Given the description of an element on the screen output the (x, y) to click on. 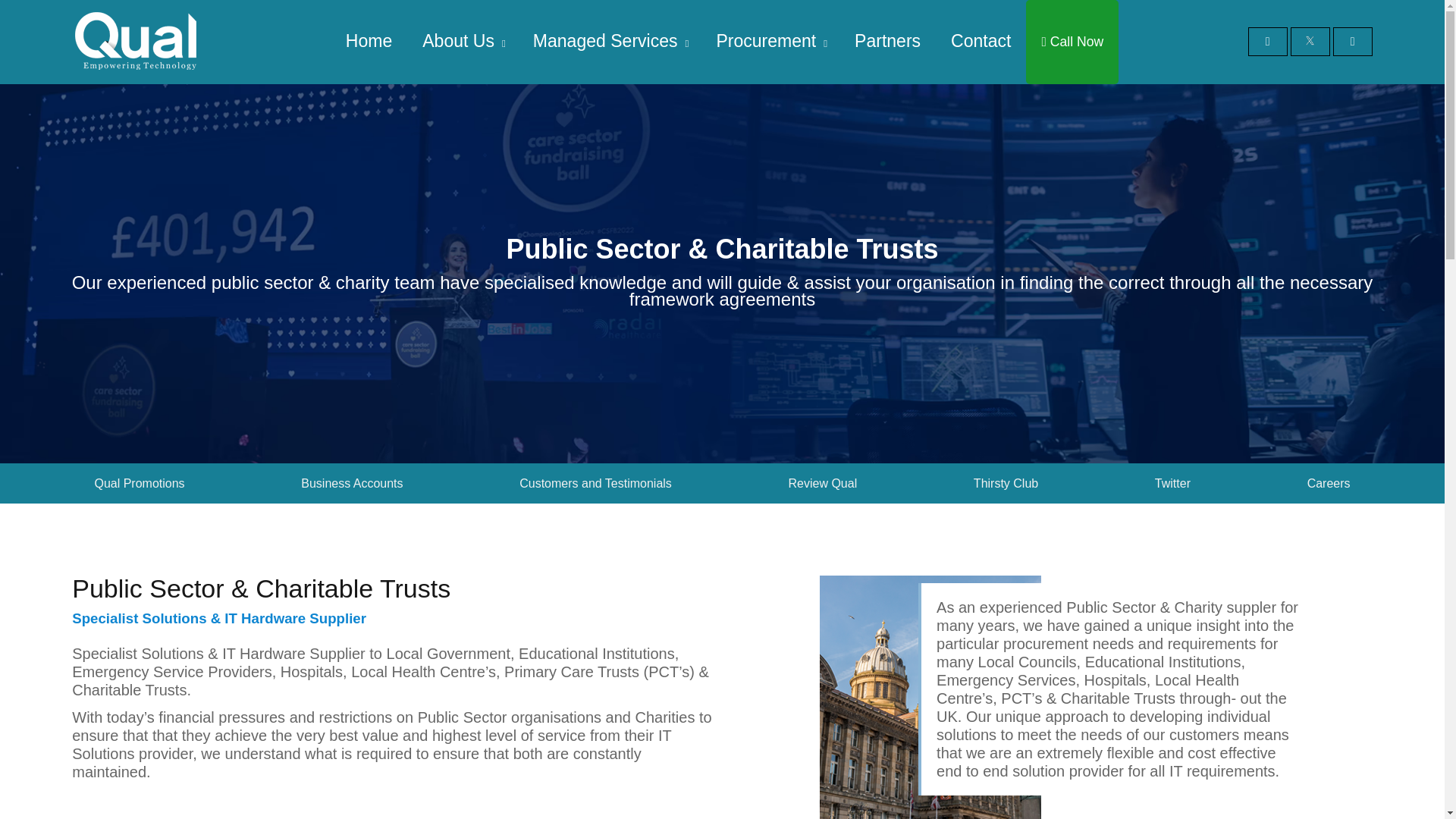
Procurement (765, 40)
Qual Limited Logo (135, 73)
Managed Services (605, 40)
Home (368, 40)
Twitter (1309, 40)
About Us (458, 40)
